Given the description of an element on the screen output the (x, y) to click on. 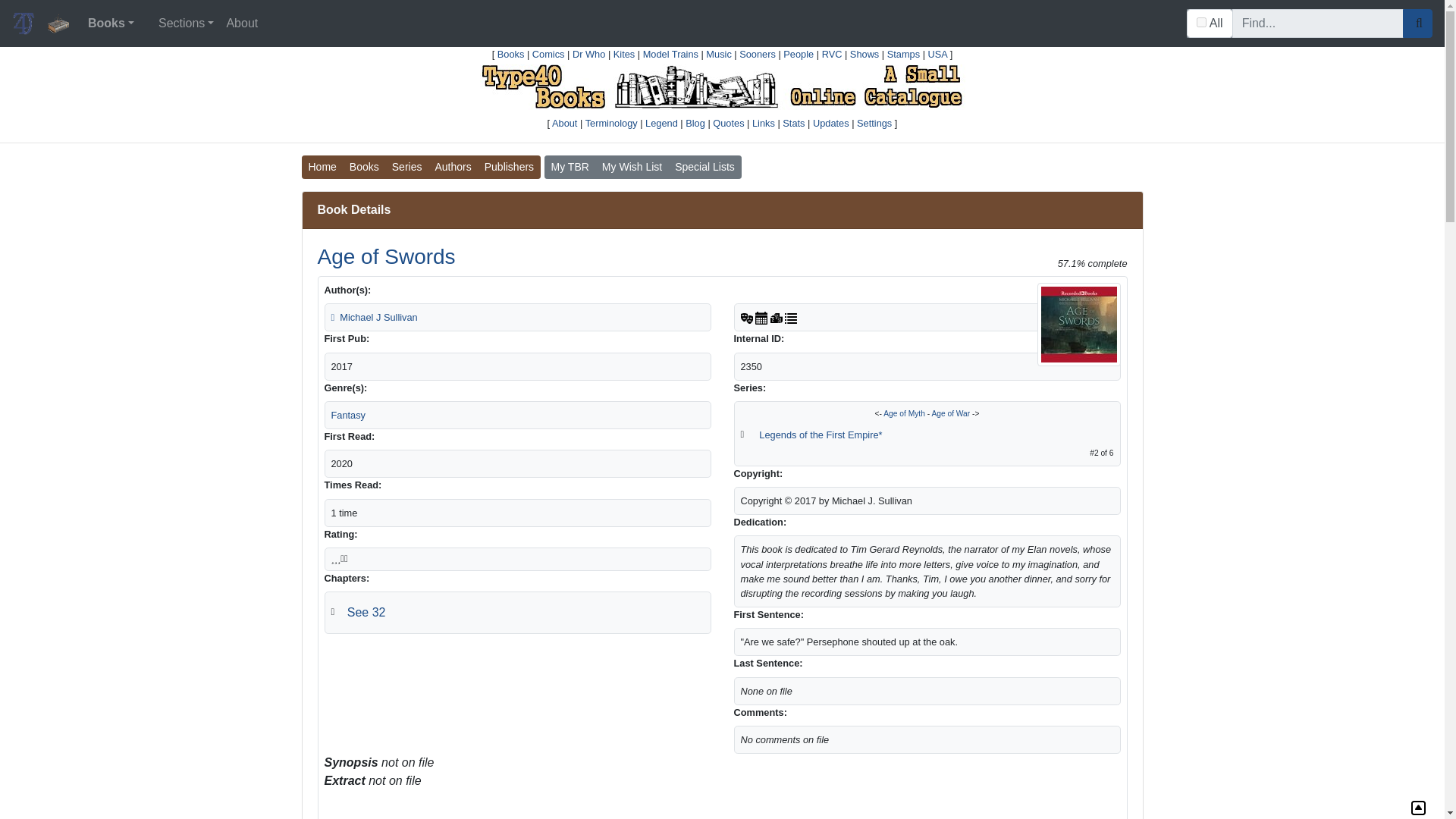
In a series (790, 317)
Has a personal rating (776, 317)
Books (510, 53)
About (241, 23)
It is good (338, 558)
Comics (548, 53)
Has a genre (745, 317)
Books (110, 23)
Sections (185, 23)
